Given the description of an element on the screen output the (x, y) to click on. 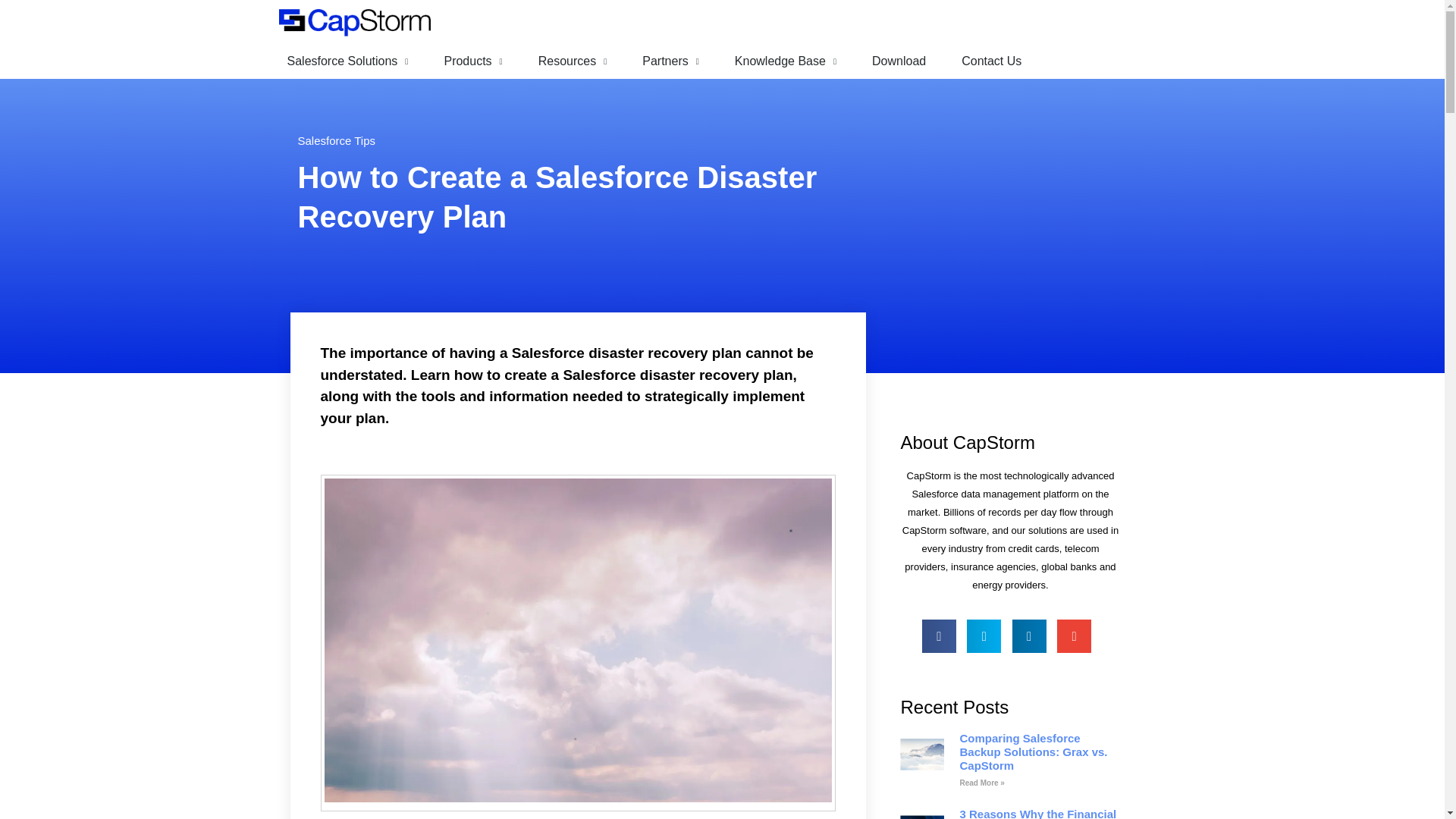
Download (898, 61)
Knowledge Base (785, 61)
Contact Us (991, 61)
Products (471, 61)
Resources (572, 61)
Partners (670, 61)
Salesforce Solutions (347, 61)
